Given the description of an element on the screen output the (x, y) to click on. 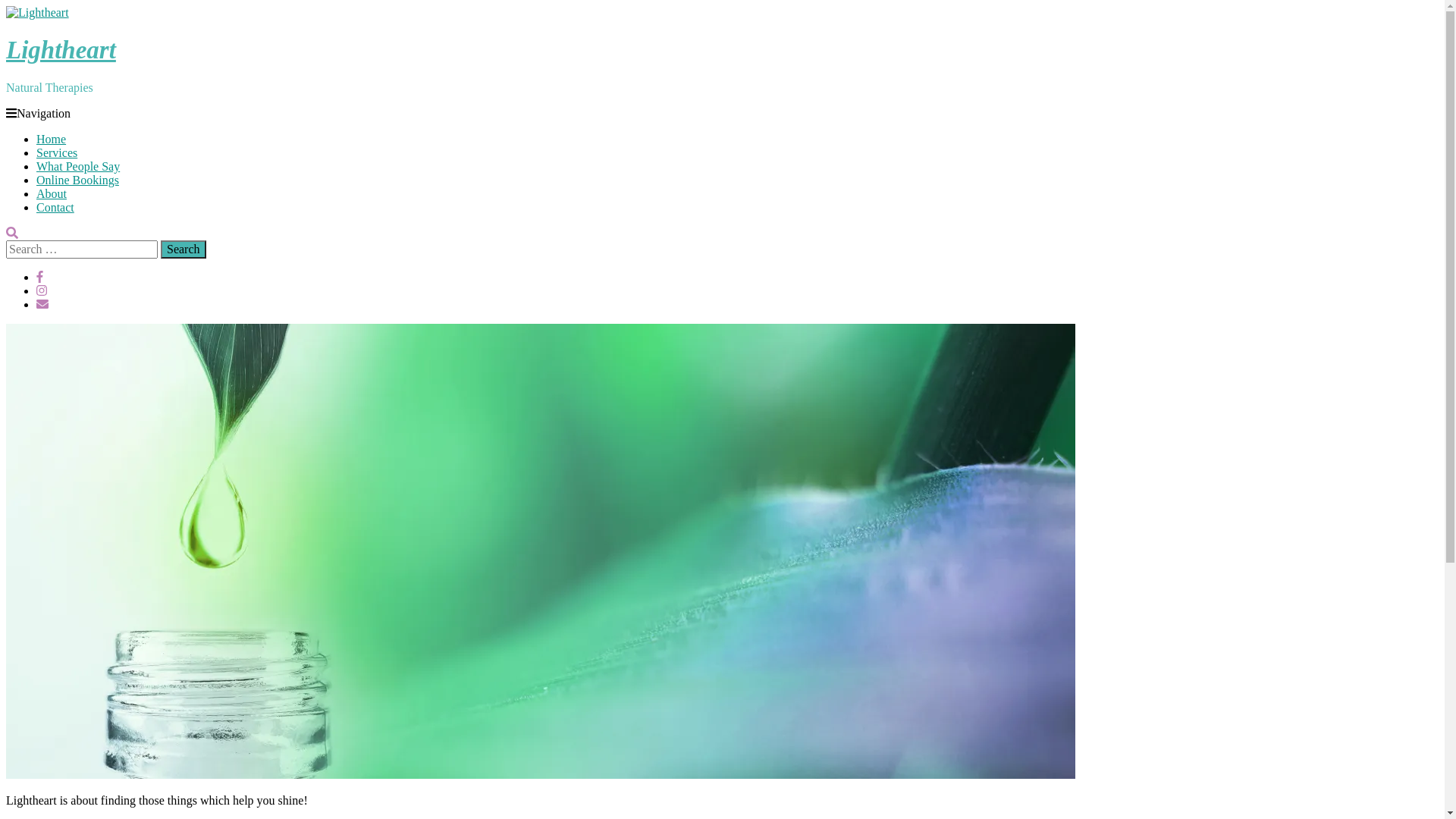
Lightheart Element type: text (61, 49)
Home Element type: text (50, 138)
What People Say Element type: text (77, 166)
Services Element type: text (56, 152)
Search Element type: text (183, 249)
About Element type: text (51, 193)
Online Bookings Element type: text (77, 179)
Contact Element type: text (55, 206)
